Given the description of an element on the screen output the (x, y) to click on. 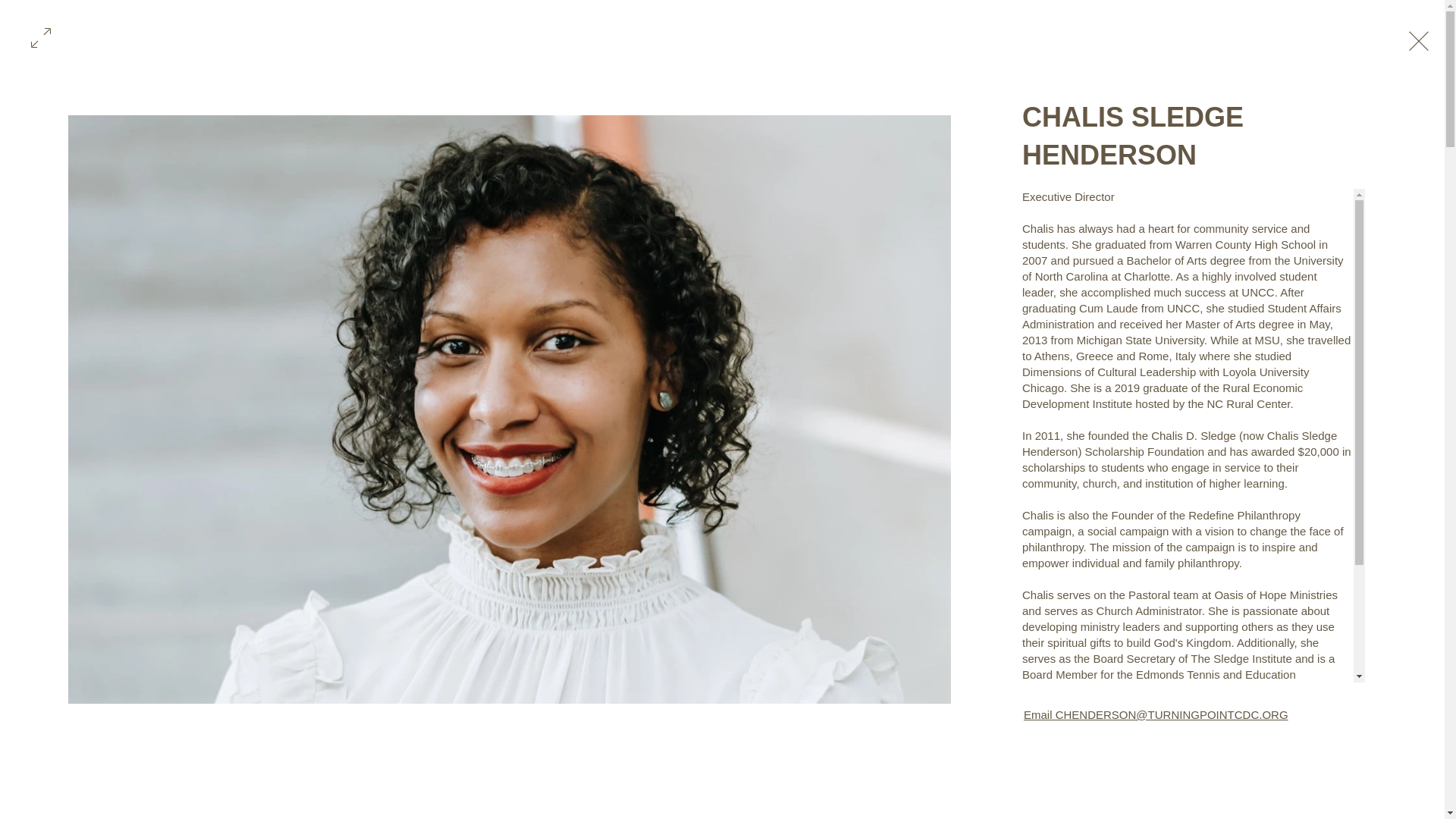
Contact Us (971, 40)
Donate (884, 40)
Who We Are (583, 40)
Home (496, 40)
Get Involved (793, 40)
Media (1055, 40)
